Given the description of an element on the screen output the (x, y) to click on. 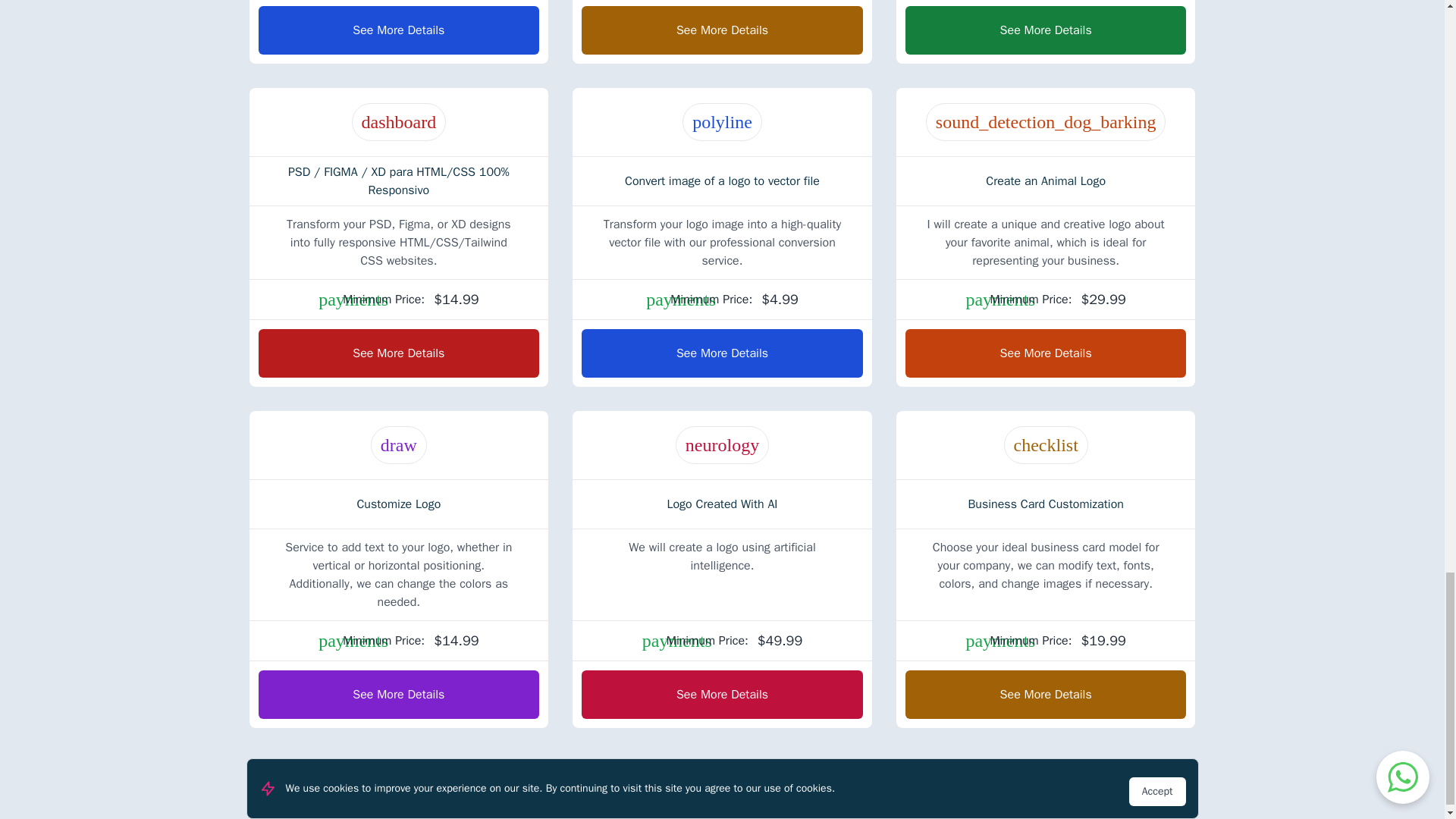
See More Details (397, 29)
